Given the description of an element on the screen output the (x, y) to click on. 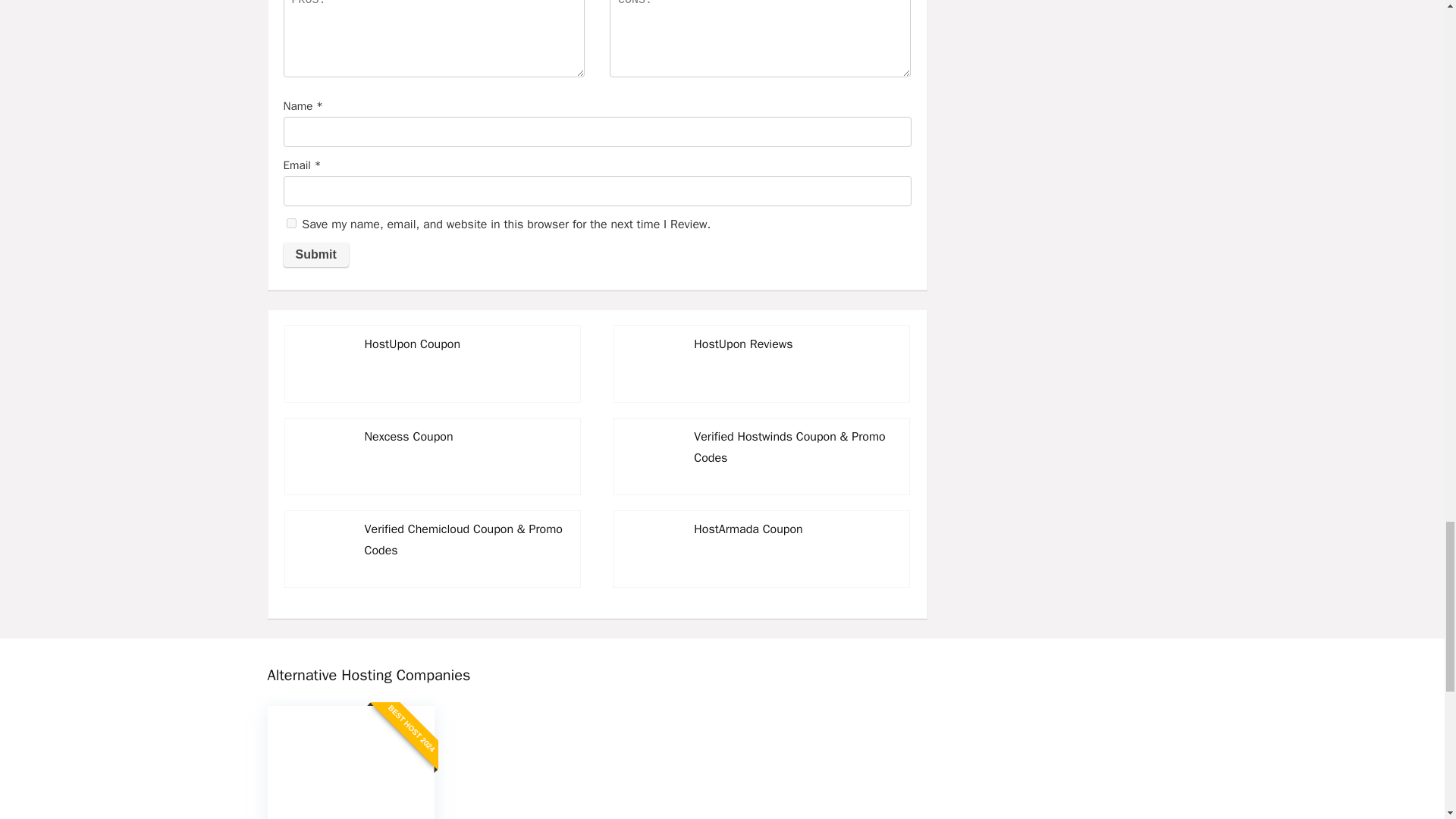
yes (291, 223)
Submit (316, 254)
